Given the description of an element on the screen output the (x, y) to click on. 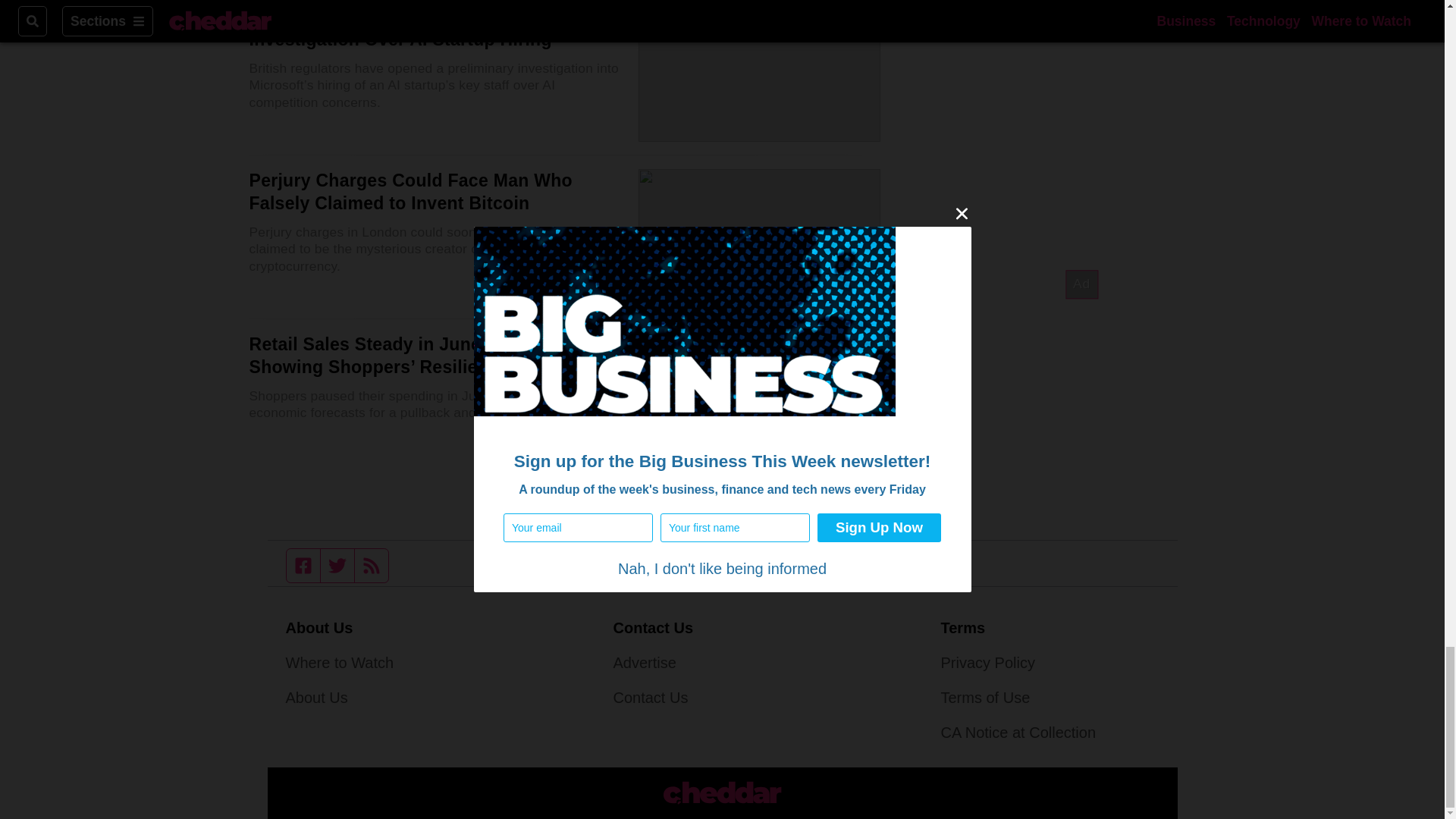
RSS feed (371, 565)
Twitter feed (336, 565)
Load More (564, 499)
Facebook page (303, 565)
